Given the description of an element on the screen output the (x, y) to click on. 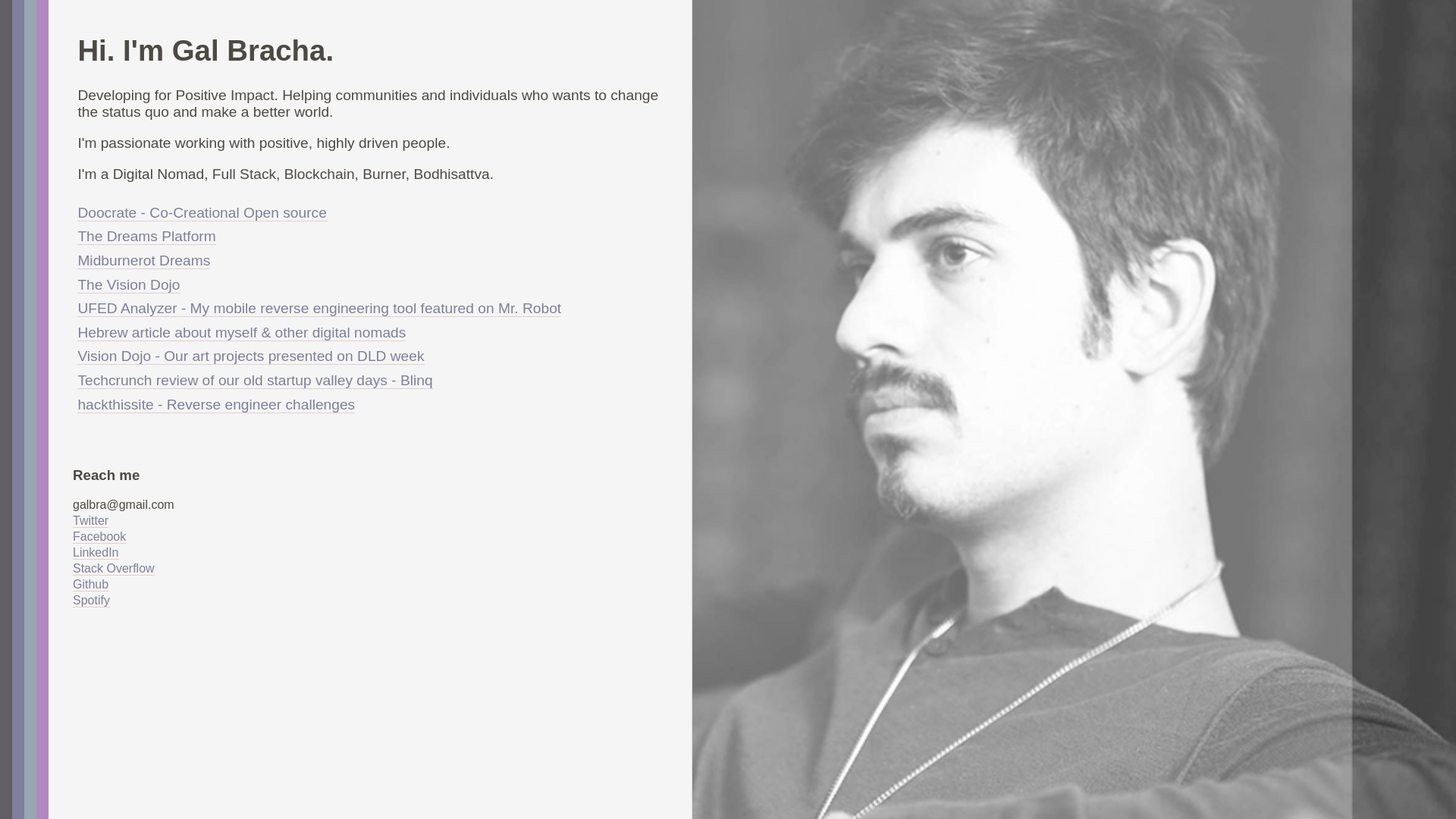
LinkedIn (95, 552)
The Vision Dojo (128, 284)
The Dreams Platform (146, 236)
Techcrunch review of our old startup valley days - Blinq (254, 380)
Stack Overflow (113, 568)
Github (89, 584)
hackthissite - Reverse engineer challenges (216, 404)
Doocrate - Co-Creational Open source (201, 212)
Vision Dojo - Our art projects presented on DLD week (250, 356)
Spotify (91, 600)
Midburnerot Dreams (143, 260)
Twitter (89, 520)
Facebook (98, 536)
